Given the description of an element on the screen output the (x, y) to click on. 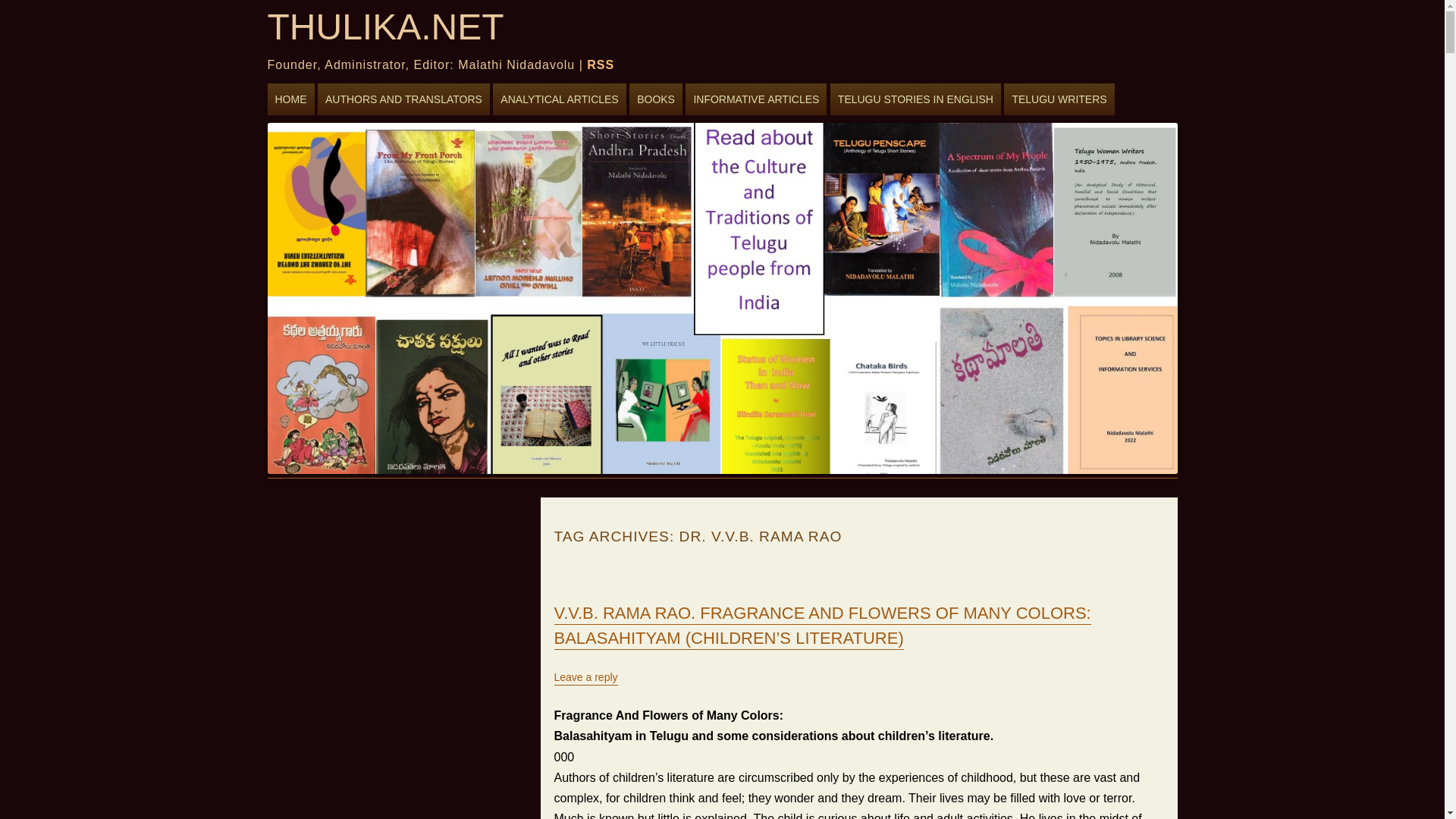
Skip to content (322, 86)
Skip to content (322, 86)
INFORMATIVE ARTICLES (756, 99)
TELUGU WRITERS (1058, 99)
BOOKS (655, 99)
HOME (290, 99)
AUTHORS AND TRANSLATORS (403, 99)
THULIKA.NET (384, 28)
Leave a reply (585, 677)
RSS (600, 66)
TELUGU STORIES IN ENGLISH (915, 99)
THULIKA.NET (384, 28)
ANALYTICAL ARTICLES (559, 99)
Subscribe to the RSS Feed of this site (600, 66)
